Given the description of an element on the screen output the (x, y) to click on. 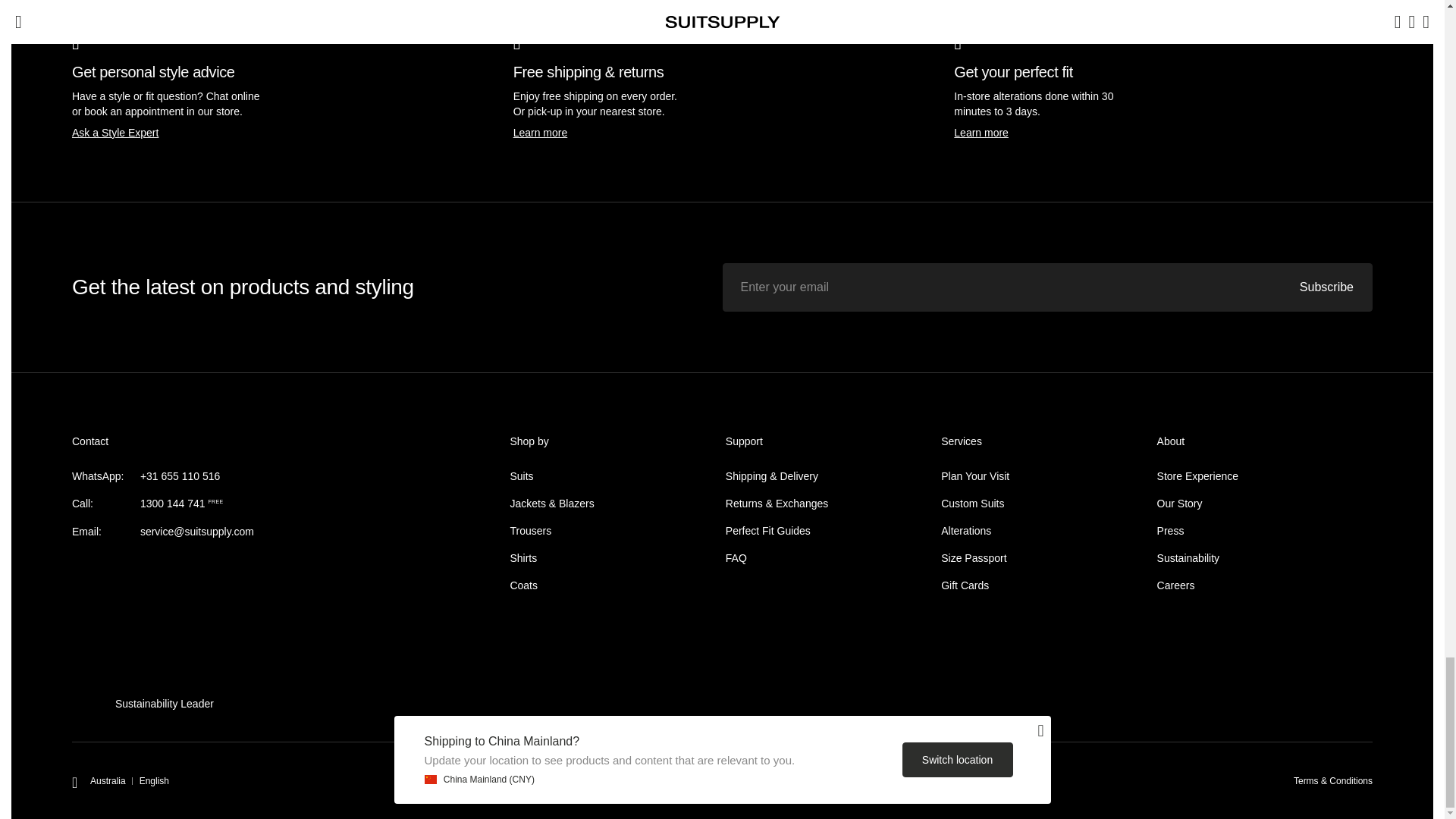
Suits (520, 476)
Get your perfect fit (981, 132)
1300 144 741 (172, 503)
WhatsApp (180, 476)
Ask a Style Expert (114, 132)
Email (196, 531)
Fast, free shipping (540, 132)
Trousers (530, 530)
Shirts (523, 558)
